Given the description of an element on the screen output the (x, y) to click on. 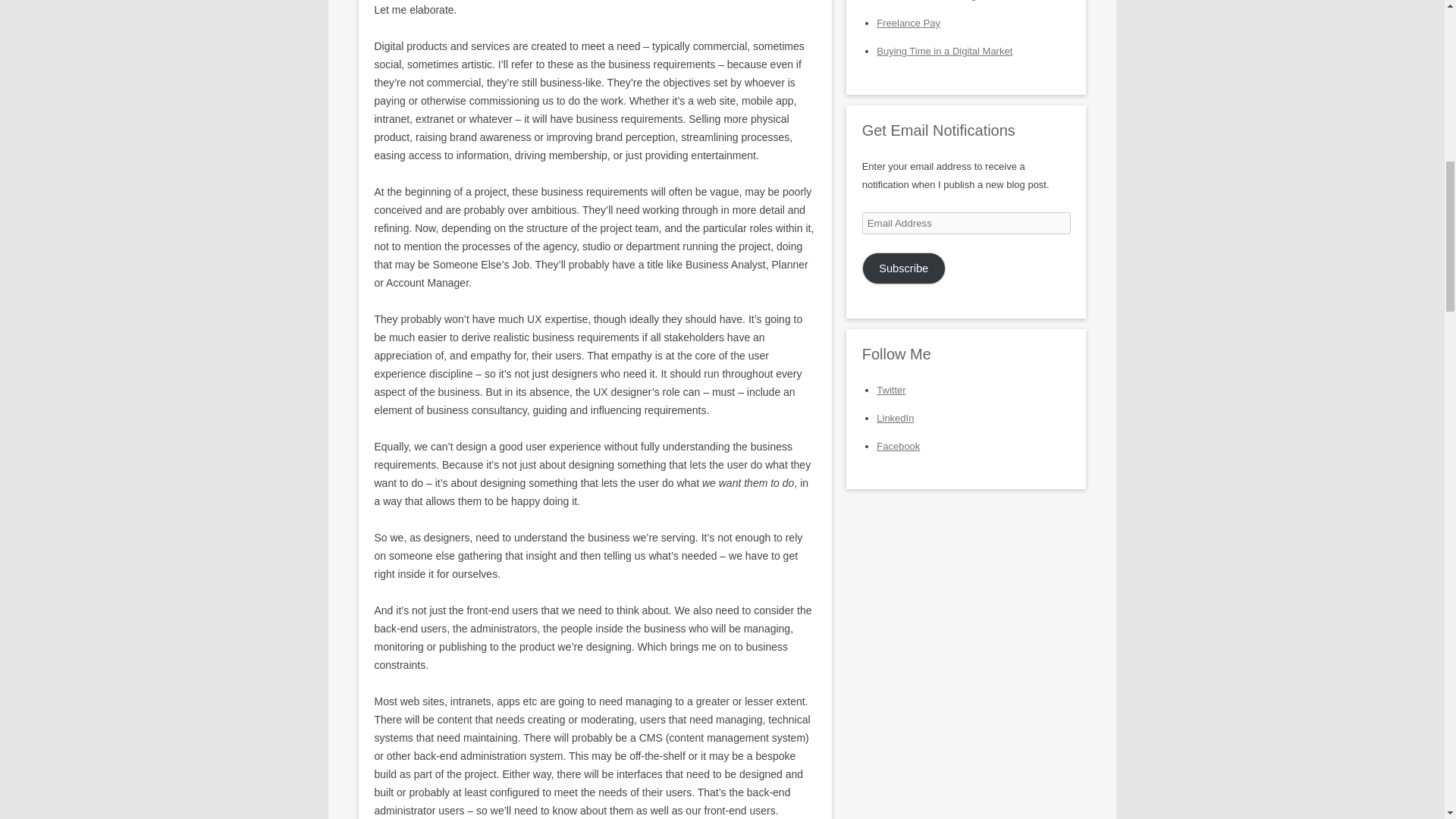
Subscribe (902, 268)
Twitter (890, 389)
Buying Time in a Digital Market (943, 50)
Freelance Pay (908, 22)
